Given the description of an element on the screen output the (x, y) to click on. 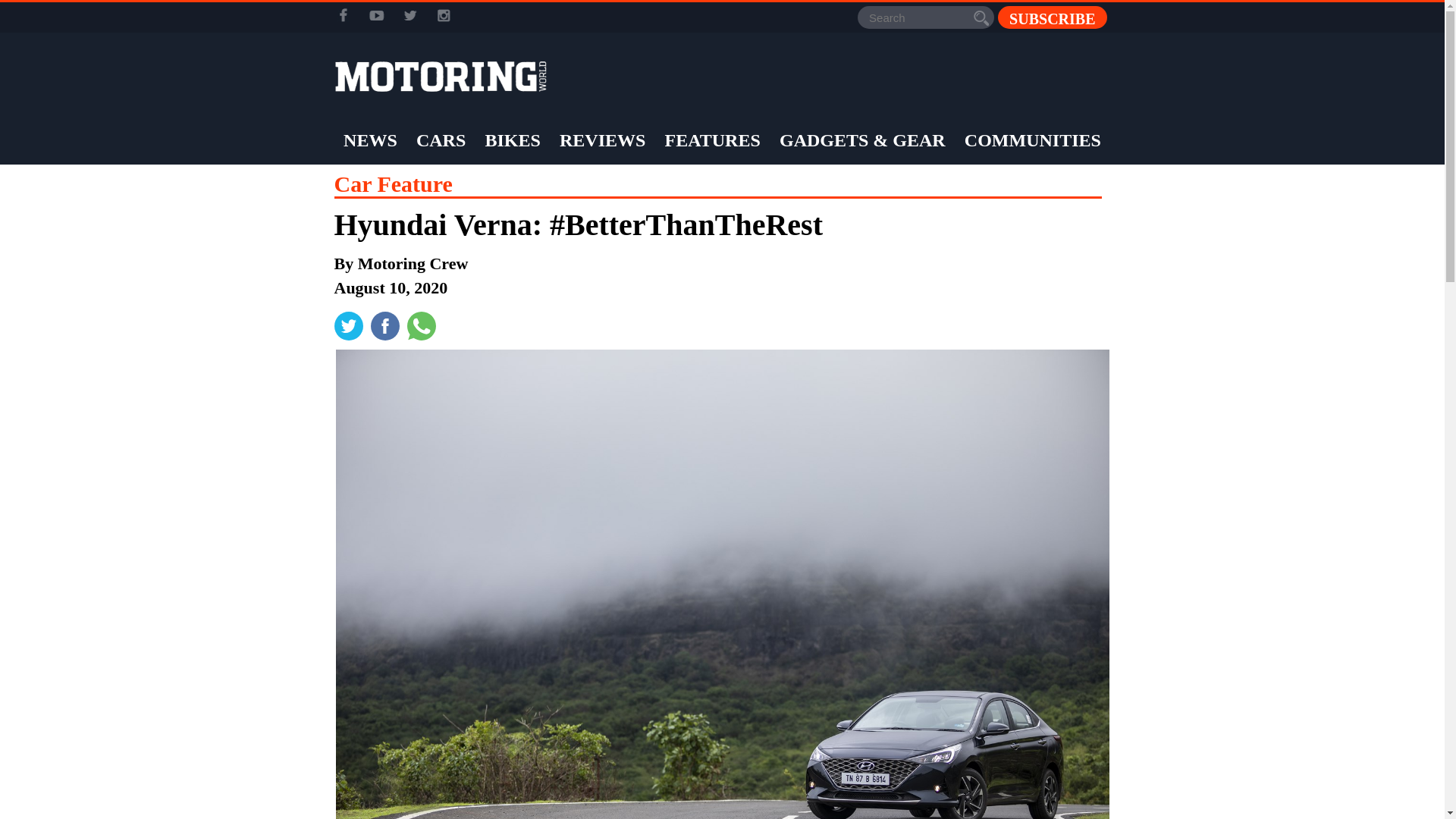
BIKES (511, 140)
Car Feature (392, 183)
COMMUNITIES (1032, 140)
REVIEWS (602, 140)
SUBSCRIBE (1051, 16)
Posts by Motoring Crew (413, 262)
CARS (440, 140)
Motoring Crew (413, 262)
FEATURES (712, 140)
NEWS (370, 140)
